Given the description of an element on the screen output the (x, y) to click on. 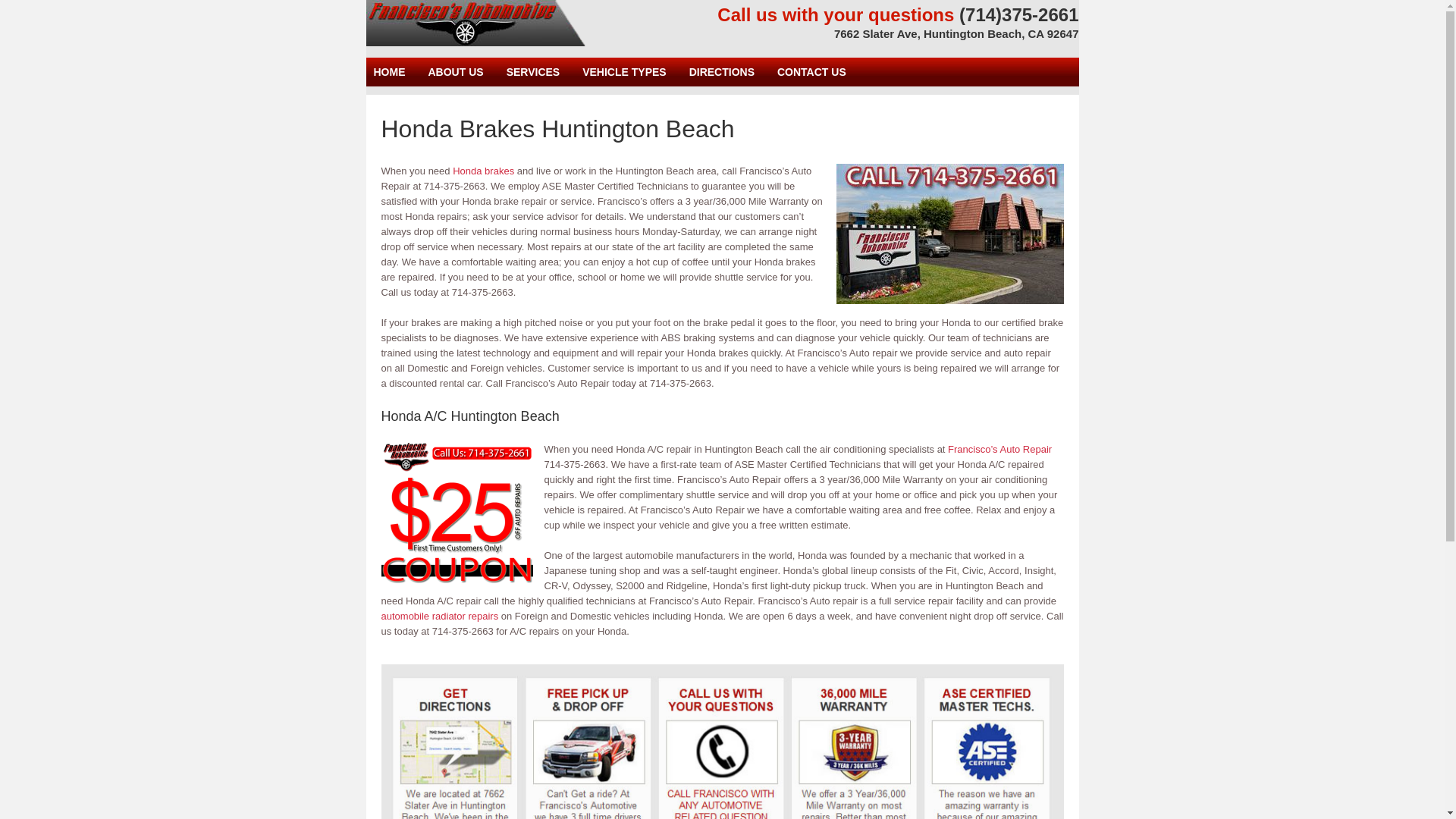
ABOUT US (455, 71)
HOME (388, 71)
7662 Slater Ave, Huntington Beach, CA 92647 (956, 33)
VEHICLE TYPES (623, 71)
SERVICES (533, 71)
